Given the description of an element on the screen output the (x, y) to click on. 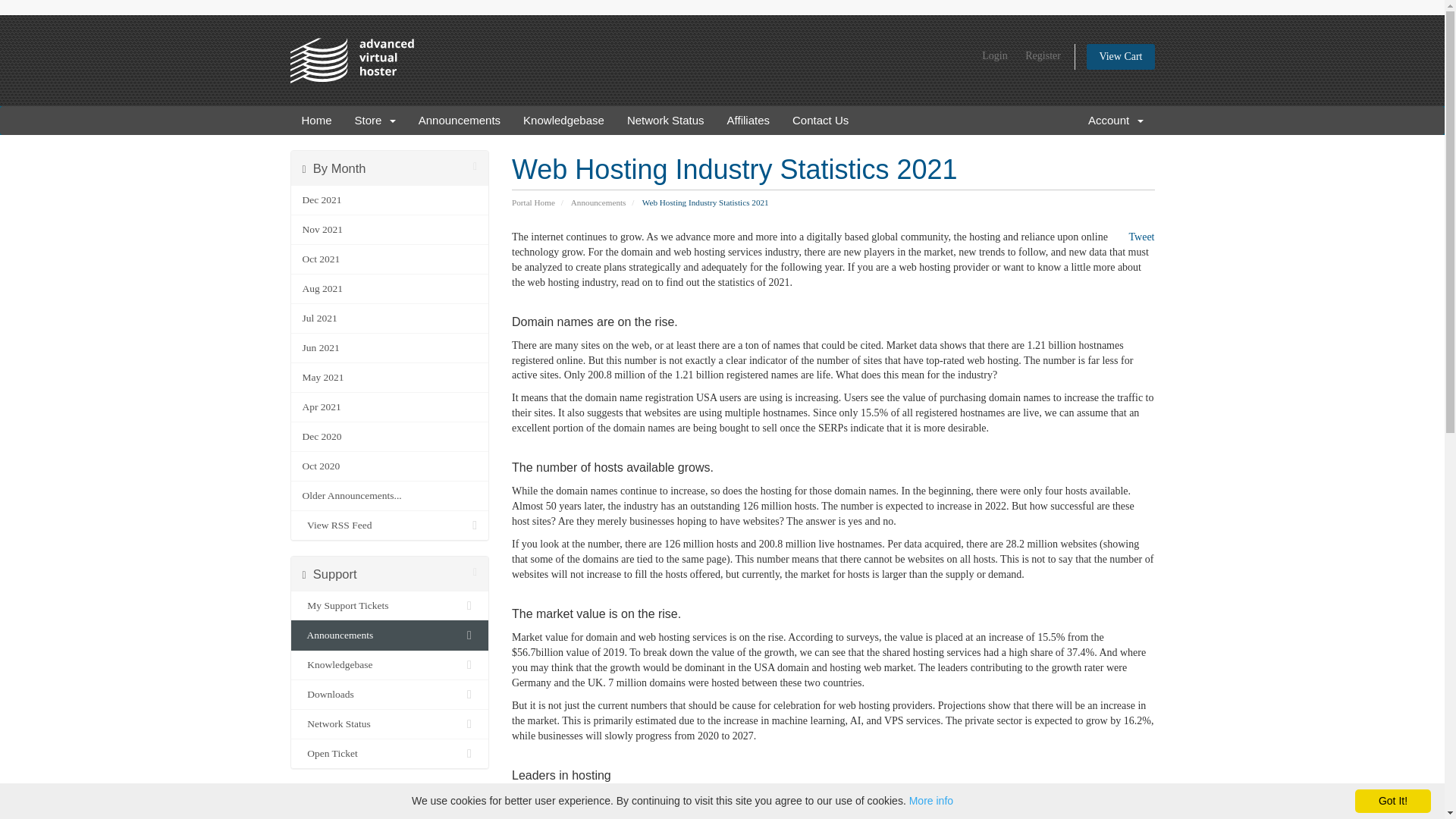
Store   (375, 120)
Announcements (459, 120)
Jul 2021 (390, 318)
Login (994, 55)
Aug 2021 (390, 288)
Knowledgebase (563, 120)
Announcements (598, 202)
Home (315, 120)
Network Status (665, 120)
Affiliates (748, 120)
View Cart (1120, 56)
Jun 2021 (390, 347)
Portal Home (533, 202)
Account   (1115, 120)
Dec 2020 (390, 436)
